Given the description of an element on the screen output the (x, y) to click on. 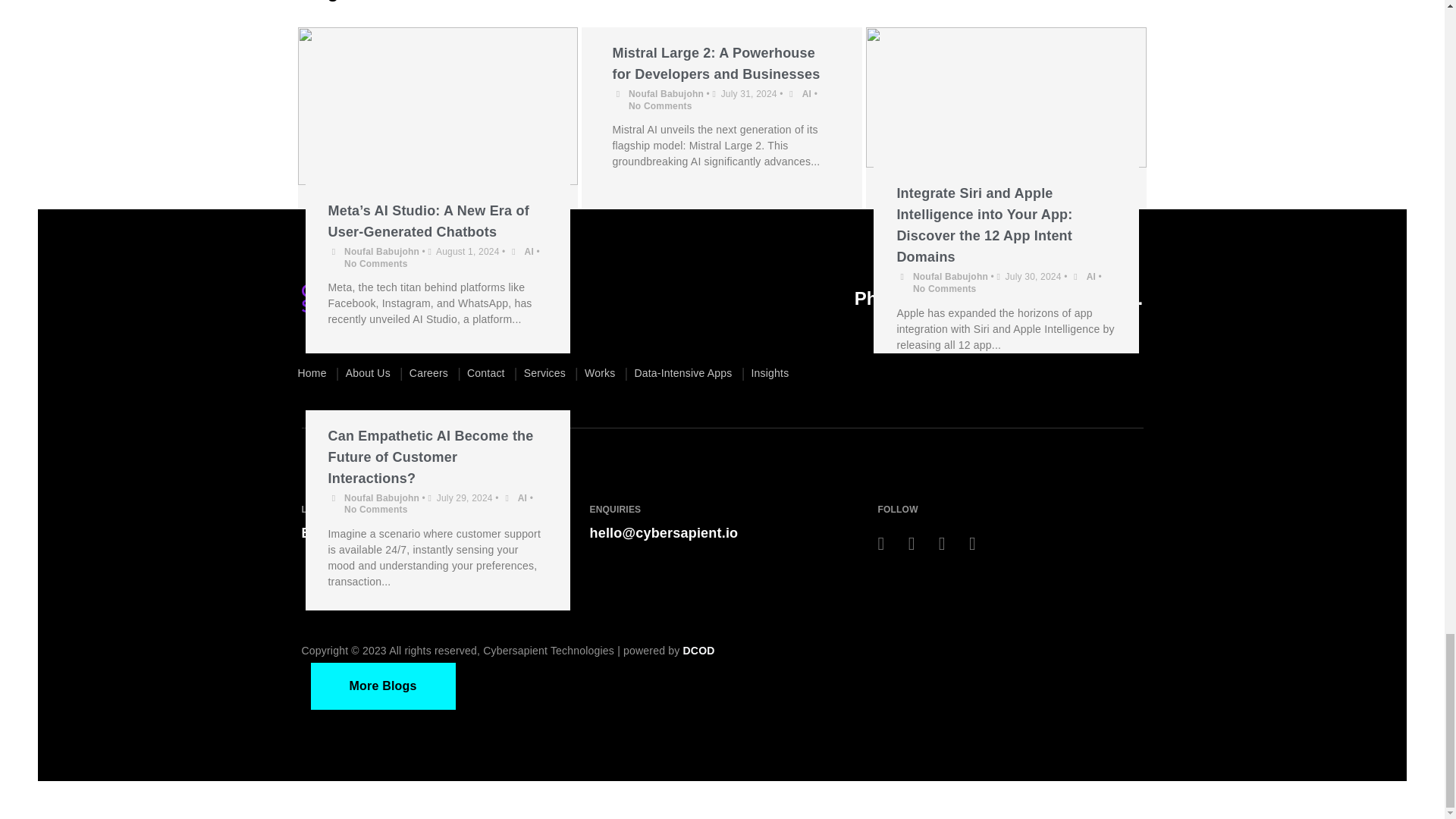
Posts by Noufal Babujohn (381, 251)
Posts by Noufal Babujohn (665, 93)
Posts by Noufal Babujohn (950, 276)
Posts by Noufal Babujohn (381, 497)
